Given the description of an element on the screen output the (x, y) to click on. 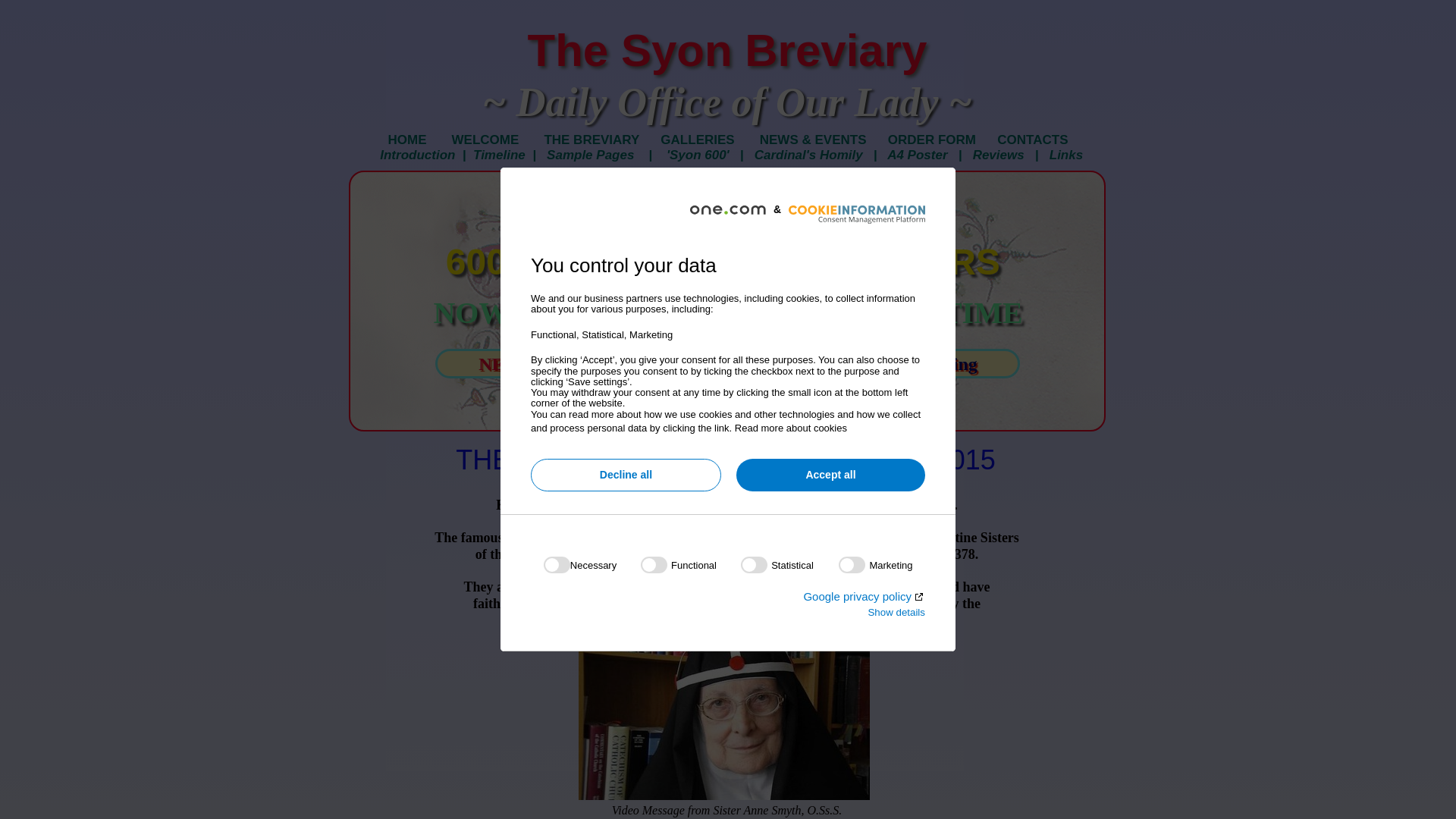
Functional (723, 756)
Show details (895, 611)
     THE BREVIARY (582, 139)
Practice Booklet (808, 363)
Read more about cookies (791, 428)
Accept all (830, 474)
Saturday's Sung Vespers (633, 363)
Necessary (723, 666)
HOME    (411, 139)
 WELCOME (483, 139)
Decline all (625, 474)
